Given the description of an element on the screen output the (x, y) to click on. 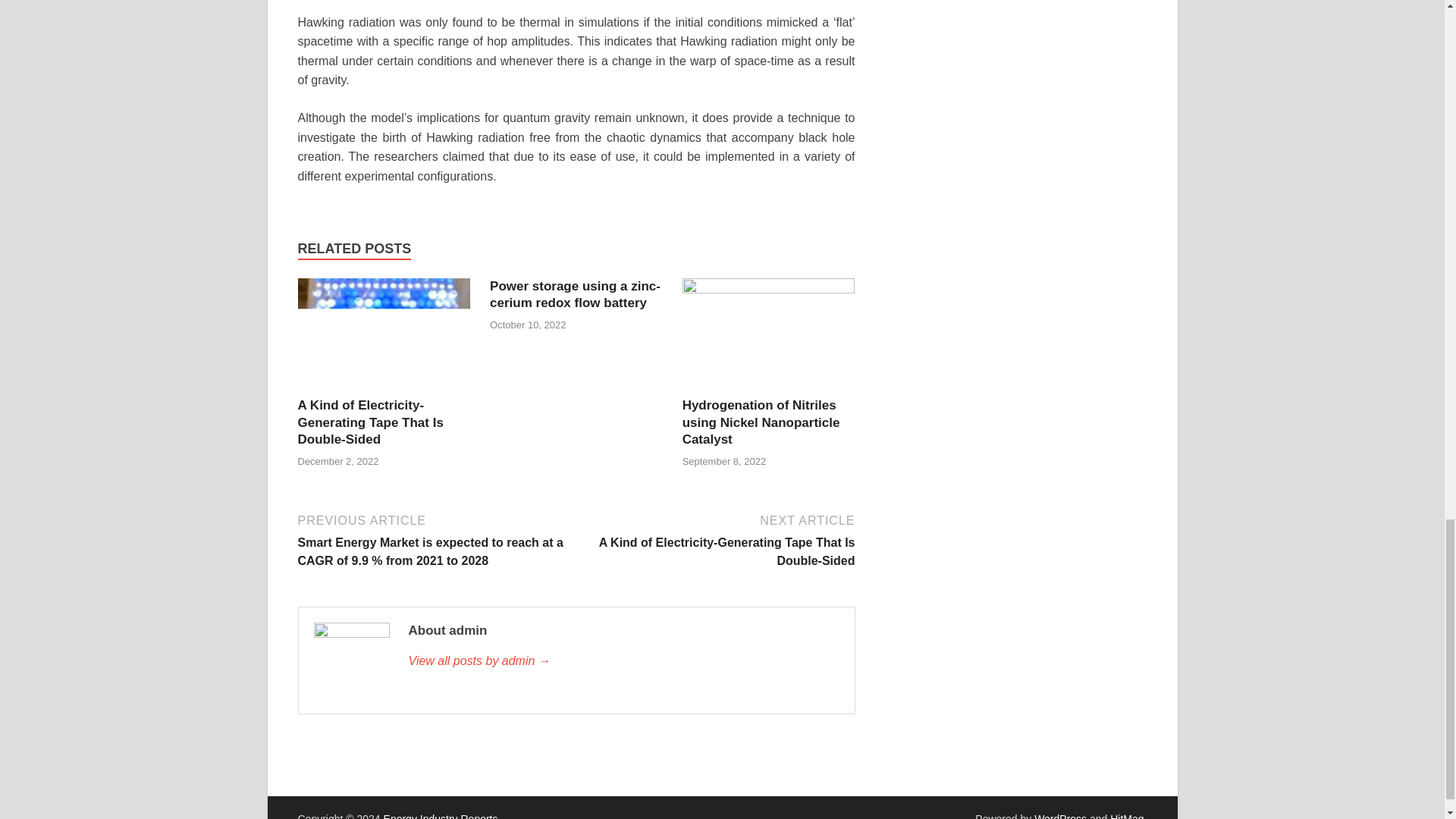
Hydrogenation of Nitriles using Nickel Nanoparticle Catalyst (761, 421)
Hydrogenation of Nitriles using Nickel Nanoparticle Catalyst (769, 336)
Power storage using a zinc-cerium redox flow battery (575, 294)
A Kind of Electricity-Generating Tape That Is Double-Sided (369, 421)
A Kind of Electricity-Generating Tape That Is Double-Sided (383, 336)
Power storage using a zinc-cerium redox flow battery (575, 294)
A Kind of Electricity-Generating Tape That Is Double-Sided (369, 421)
Hydrogenation of Nitriles using Nickel Nanoparticle Catalyst (761, 421)
admin (622, 660)
